Given the description of an element on the screen output the (x, y) to click on. 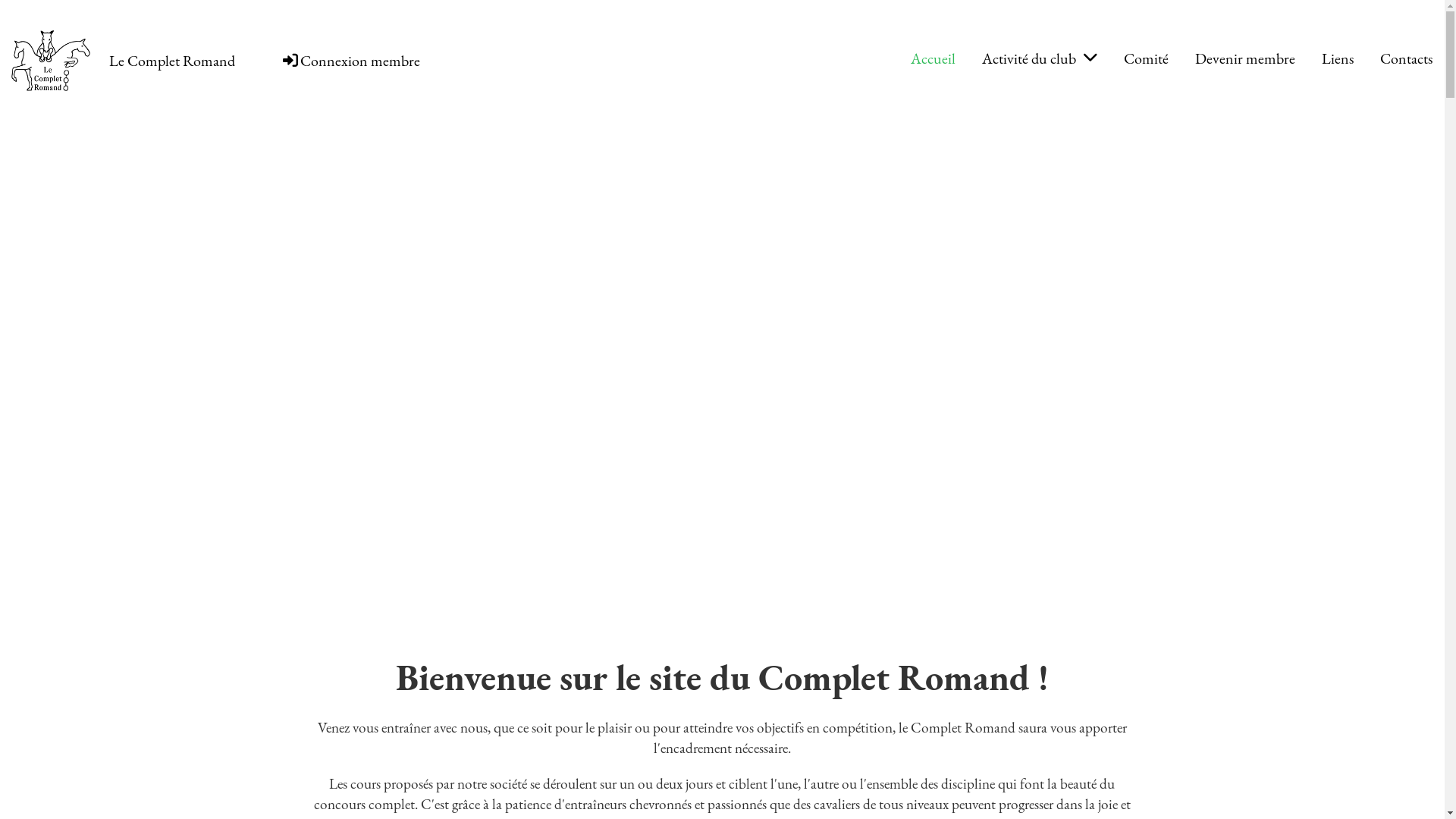
Accueil Element type: text (932, 57)
Liens Element type: text (1337, 57)
Connexion membre Element type: text (350, 60)
Devenir membre Element type: text (1245, 57)
Contacts Element type: text (1406, 57)
Le Complet Romand Element type: text (172, 60)
